Given the description of an element on the screen output the (x, y) to click on. 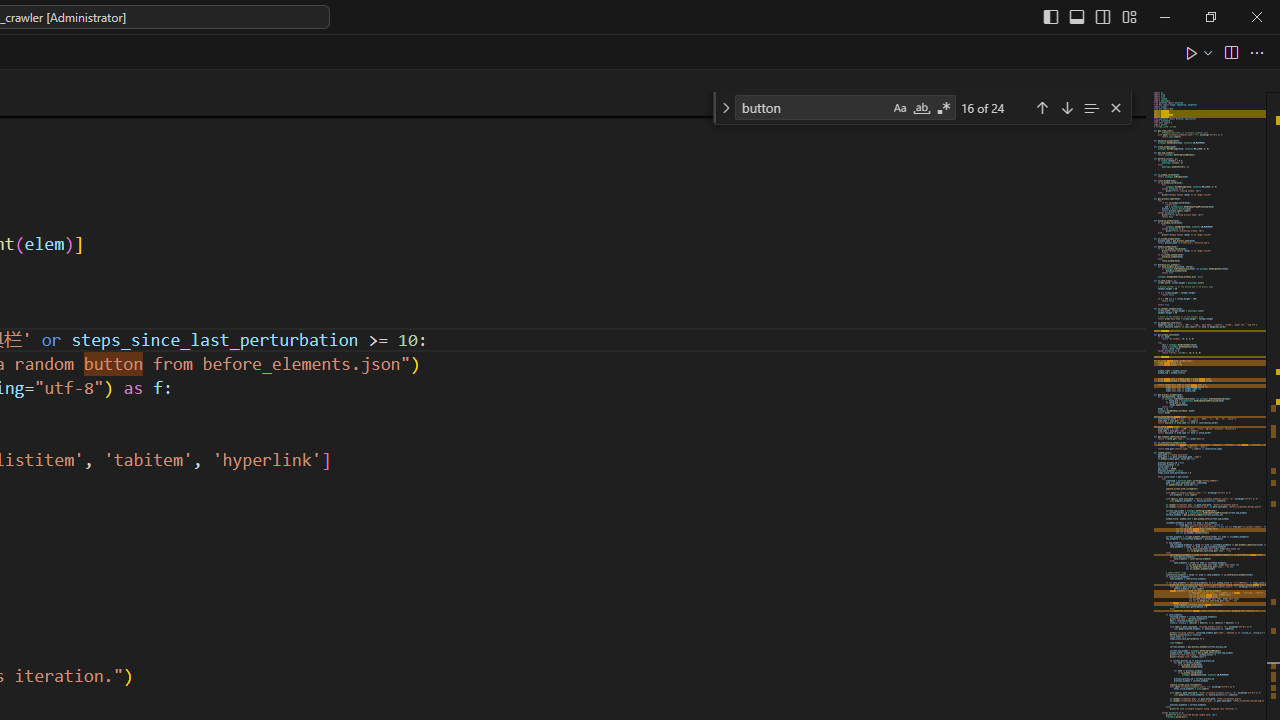
Close (Escape) (1115, 107)
Toggle Primary Side Bar (Ctrl+B) (1050, 16)
Match Case (Alt+C) (899, 107)
Find in Selection (Alt+L) (1091, 106)
Customize Layout... (1128, 16)
Editor actions (1226, 52)
Toggle Replace (725, 107)
Run or Debug... (1208, 52)
Match Whole Word (Alt+W) (921, 107)
More Actions... (1256, 52)
Title actions (1089, 16)
Toggle Secondary Side Bar (Ctrl+Alt+B) (1102, 16)
